Given the description of an element on the screen output the (x, y) to click on. 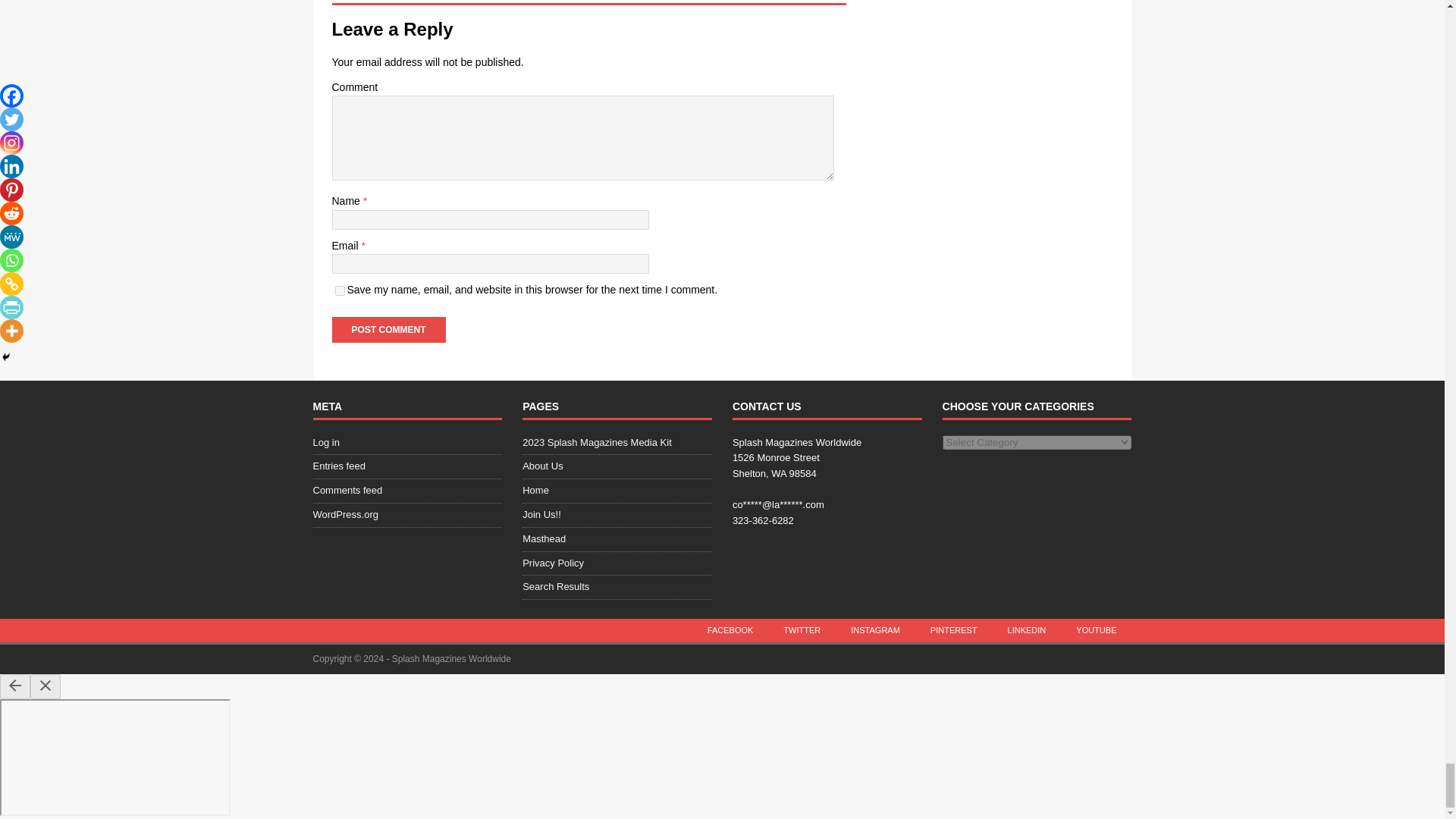
yes (339, 290)
Post Comment (388, 329)
